Given the description of an element on the screen output the (x, y) to click on. 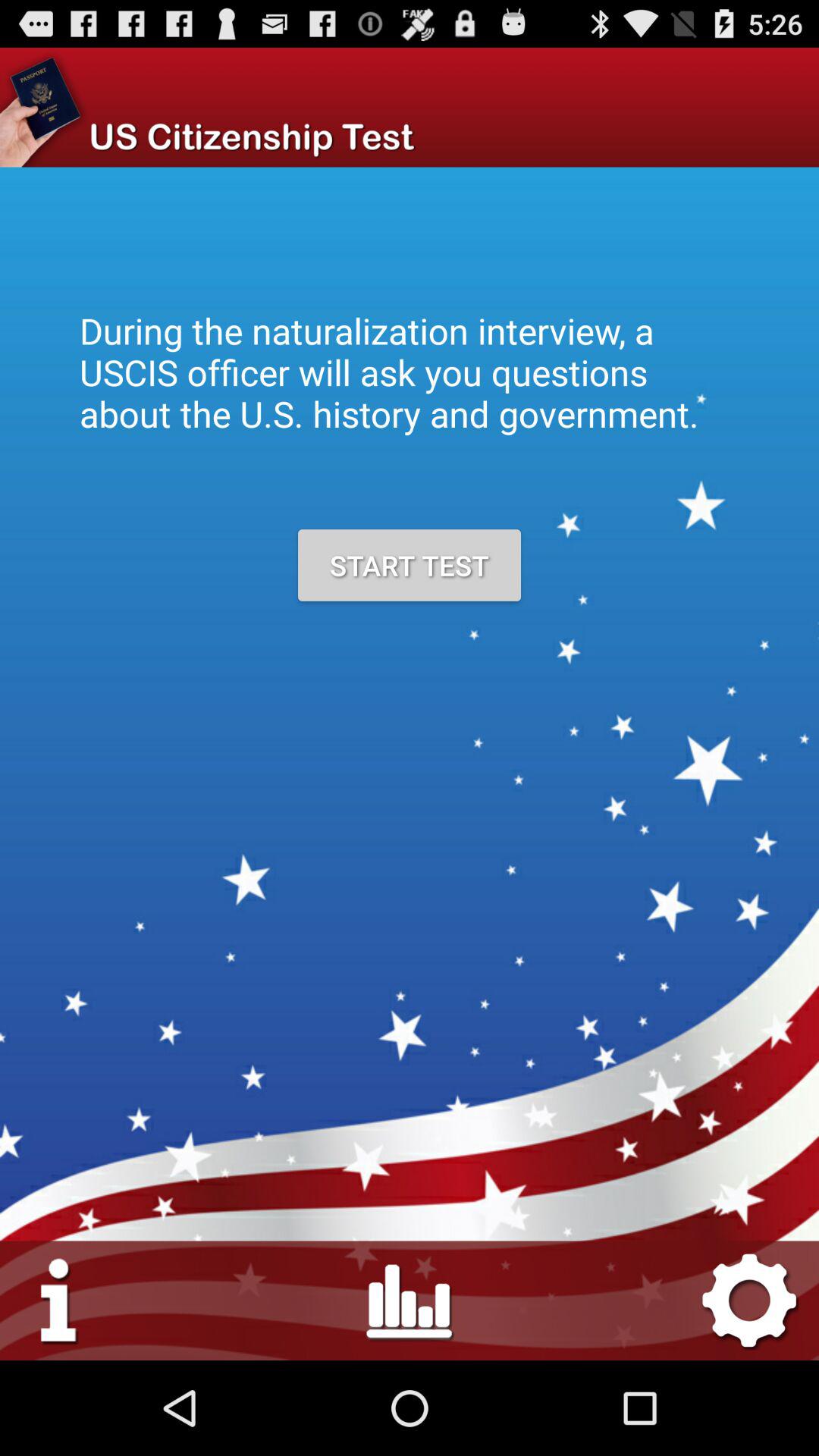
go to information (59, 1300)
